Given the description of an element on the screen output the (x, y) to click on. 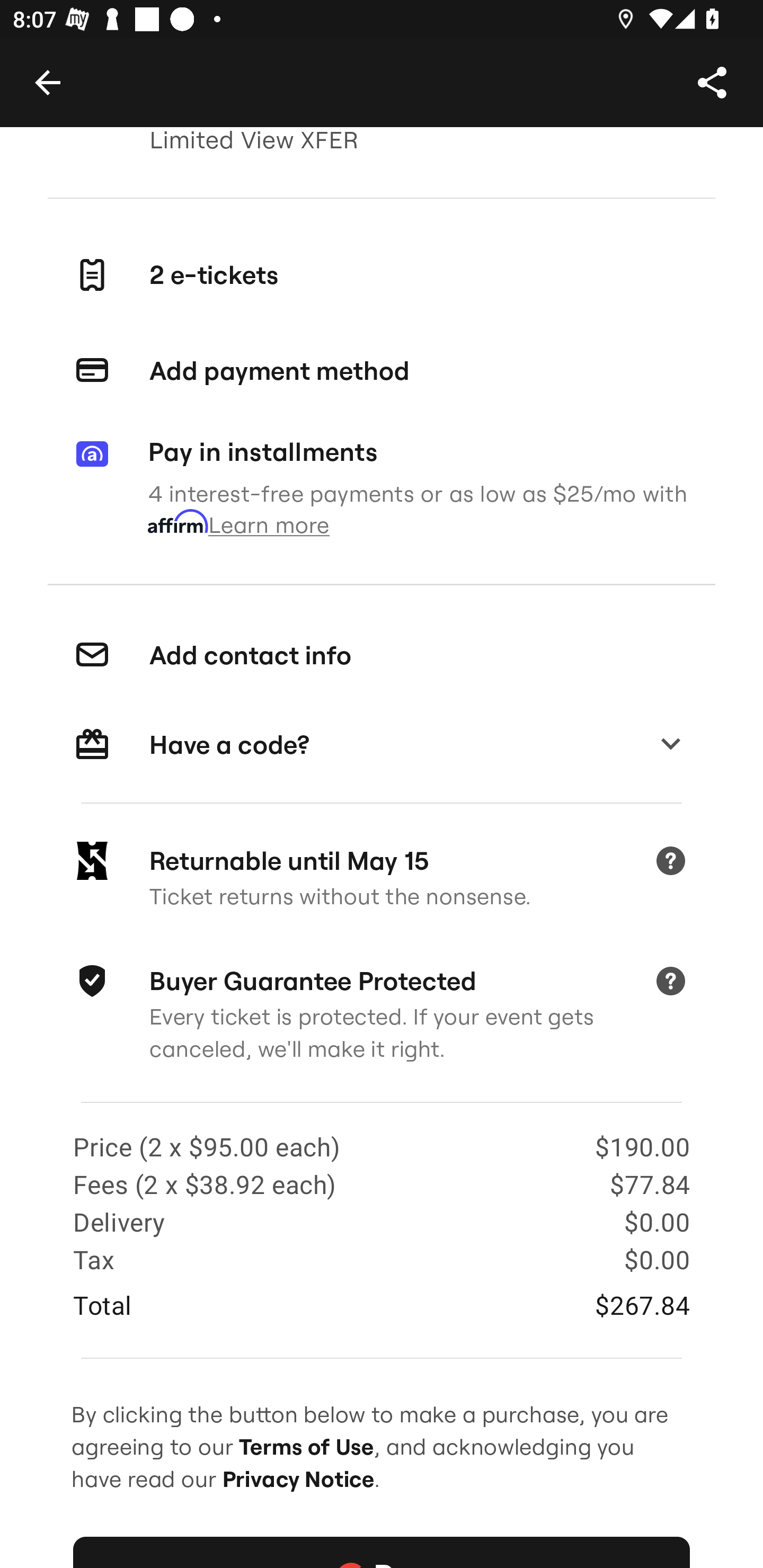
Back (47, 81)
Share (711, 81)
2 e-tickets (381, 275)
Add payment method (381, 370)
Add contact info (381, 655)
Have a code? Expand to show options (381, 745)
